Given the description of an element on the screen output the (x, y) to click on. 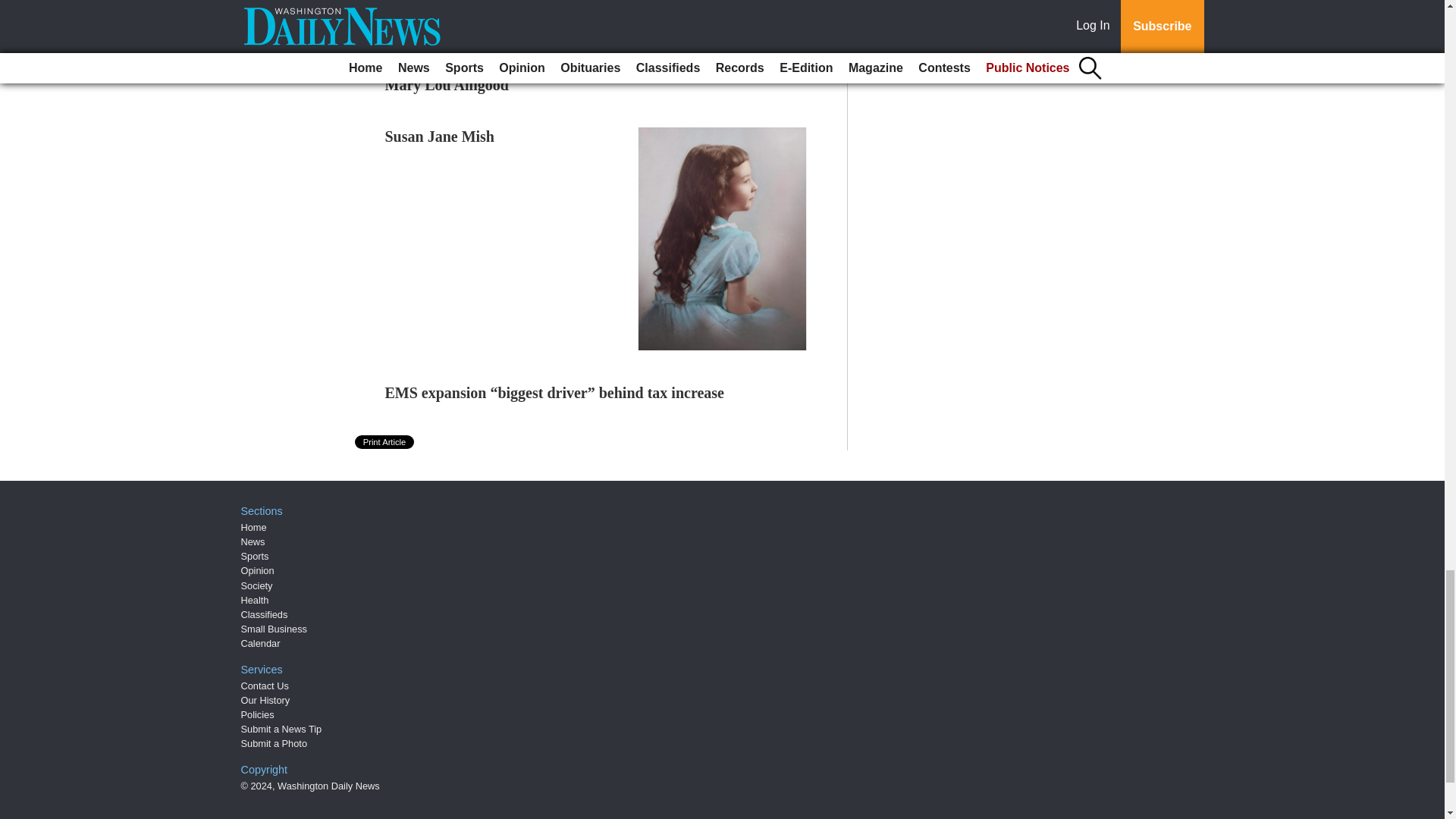
News (252, 541)
Susan Jane Mish (440, 135)
Mary Lou Alligood (446, 84)
Mary Lou Alligood (446, 84)
Susan Jane Mish (440, 135)
Society (257, 585)
Health (255, 600)
Sports (255, 555)
Home (253, 527)
Print Article (384, 441)
Opinion (258, 570)
